Given the description of an element on the screen output the (x, y) to click on. 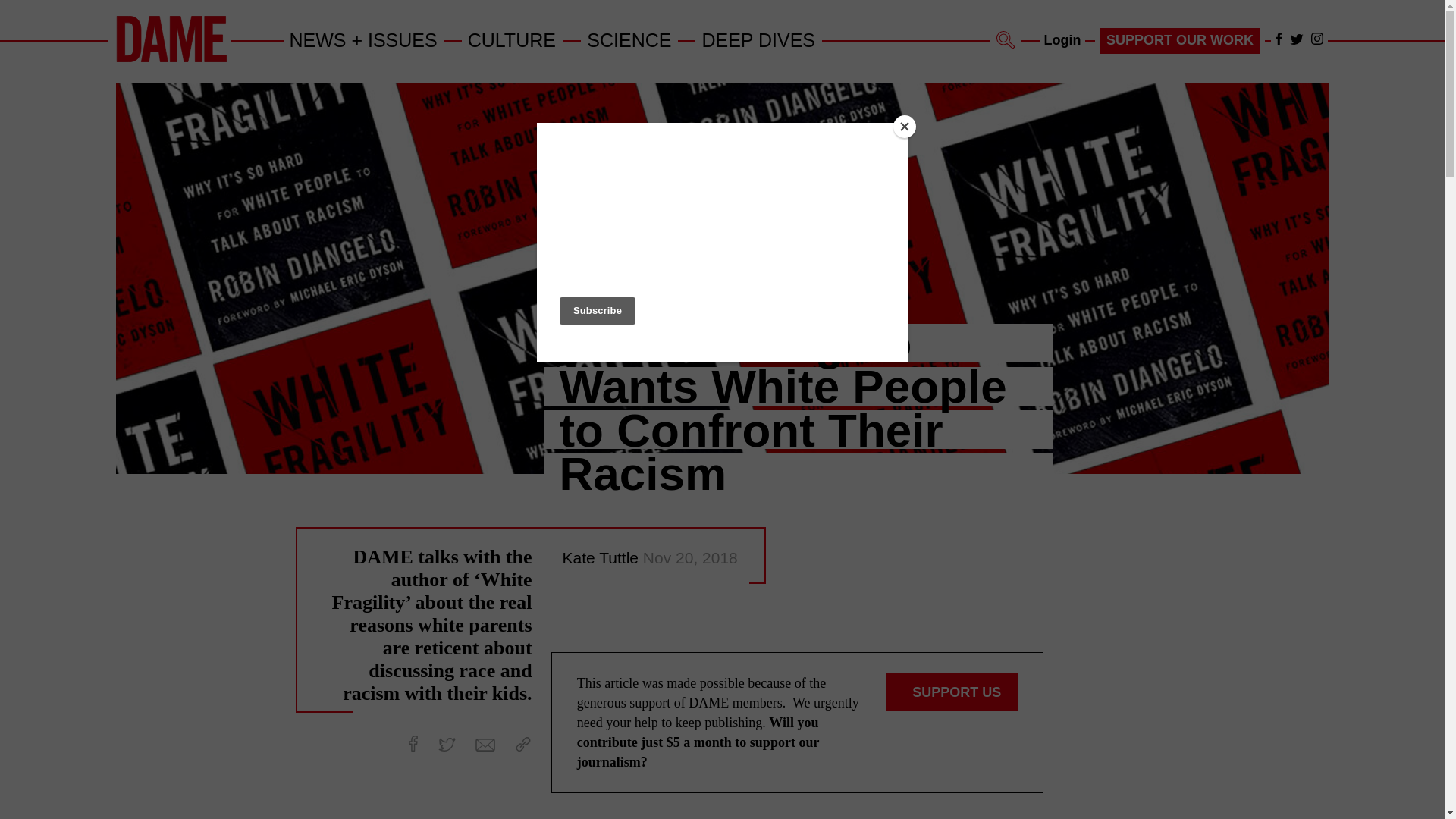
View all posts by Kate Tuttle (602, 557)
DAME (171, 38)
Search (1004, 39)
Culture (512, 39)
CULTURE (512, 39)
Science (629, 39)
Twitter (446, 744)
Twitter (1296, 39)
Share (523, 744)
SCIENCE (629, 39)
DAME (171, 58)
Deep Dives (758, 39)
Email (485, 744)
DEEP DIVES (758, 39)
Instagram (1316, 38)
